Given the description of an element on the screen output the (x, y) to click on. 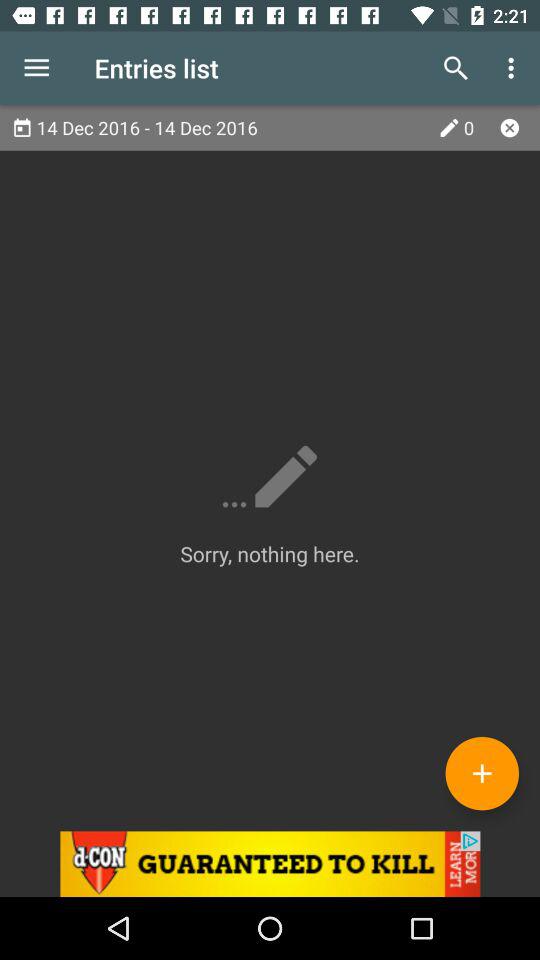
d-con advertisement (270, 864)
